Given the description of an element on the screen output the (x, y) to click on. 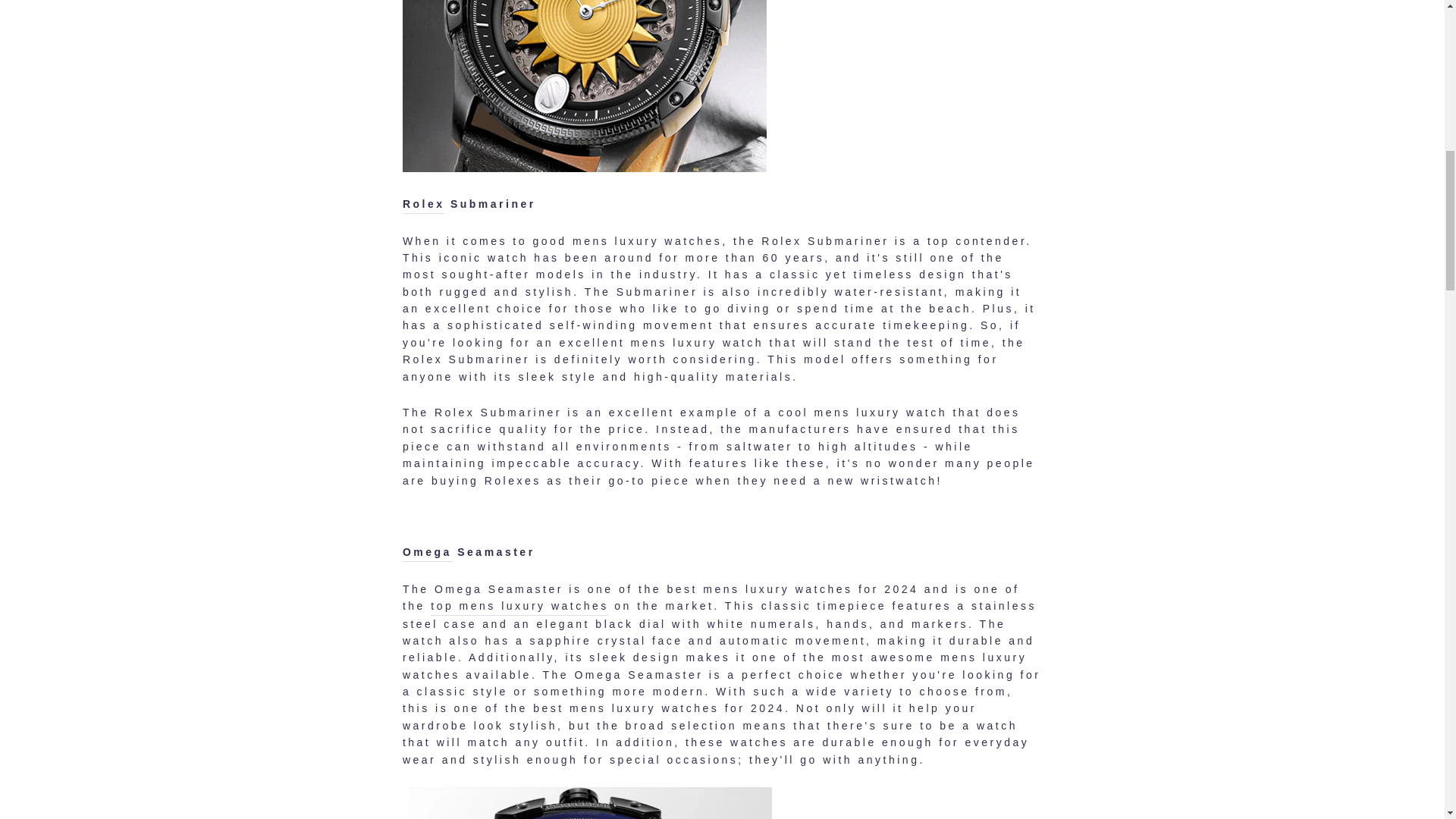
Best Mens Luxury Watches (585, 168)
Best Mens Luxury Watches (519, 606)
Rolex (424, 203)
Omega (427, 552)
